Given the description of an element on the screen output the (x, y) to click on. 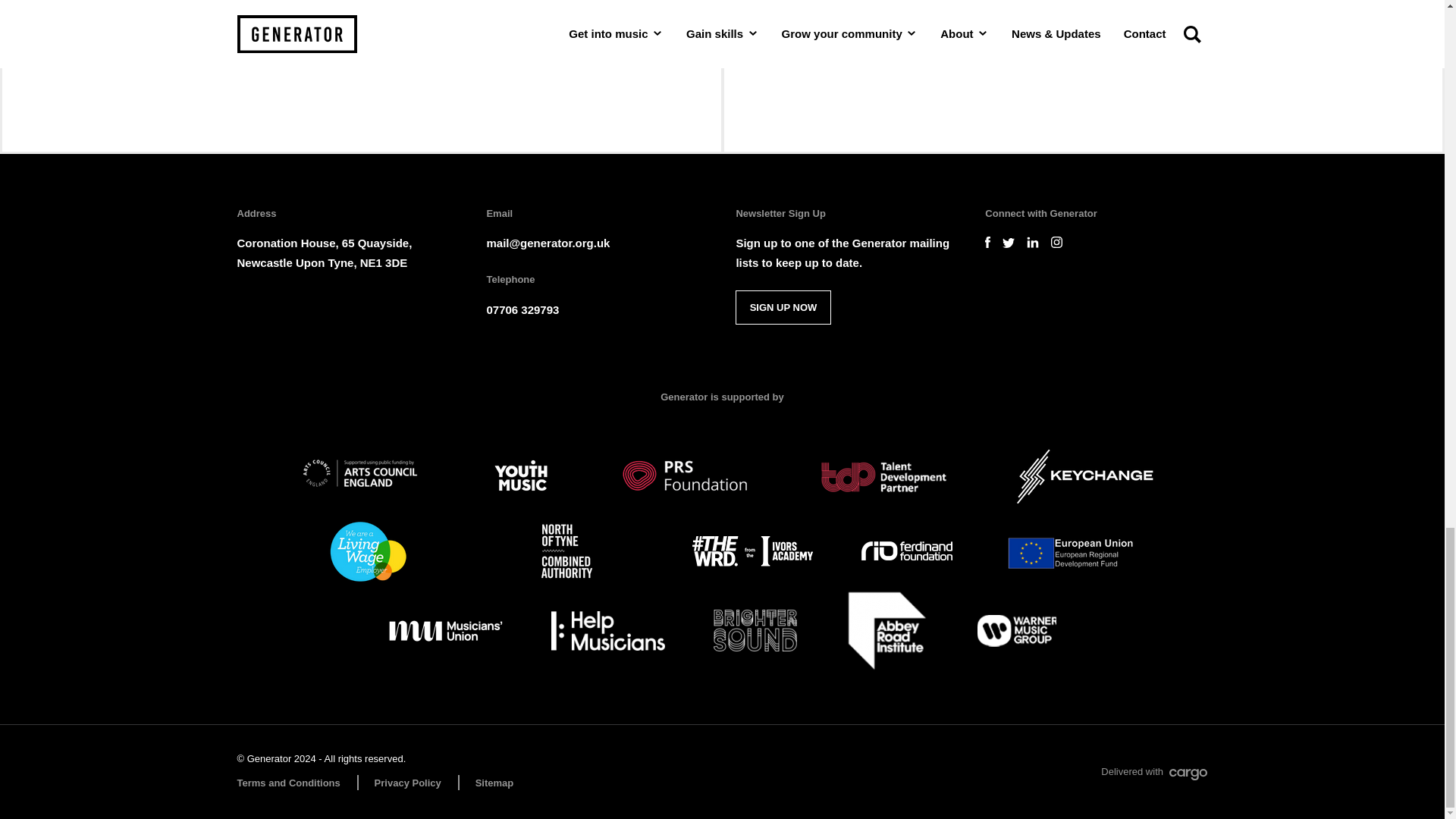
Sign up to receive Generator updates (782, 307)
Follow Generator on Instagram (1056, 243)
Like Generator on Facebook (987, 243)
SIGN UP NOW (782, 307)
Read the entry titled 'Digital Transformation Workshop' (361, 76)
Connect with Generator on LinkedIn (1032, 243)
Follow Generator on Twitter (1008, 243)
